Given the description of an element on the screen output the (x, y) to click on. 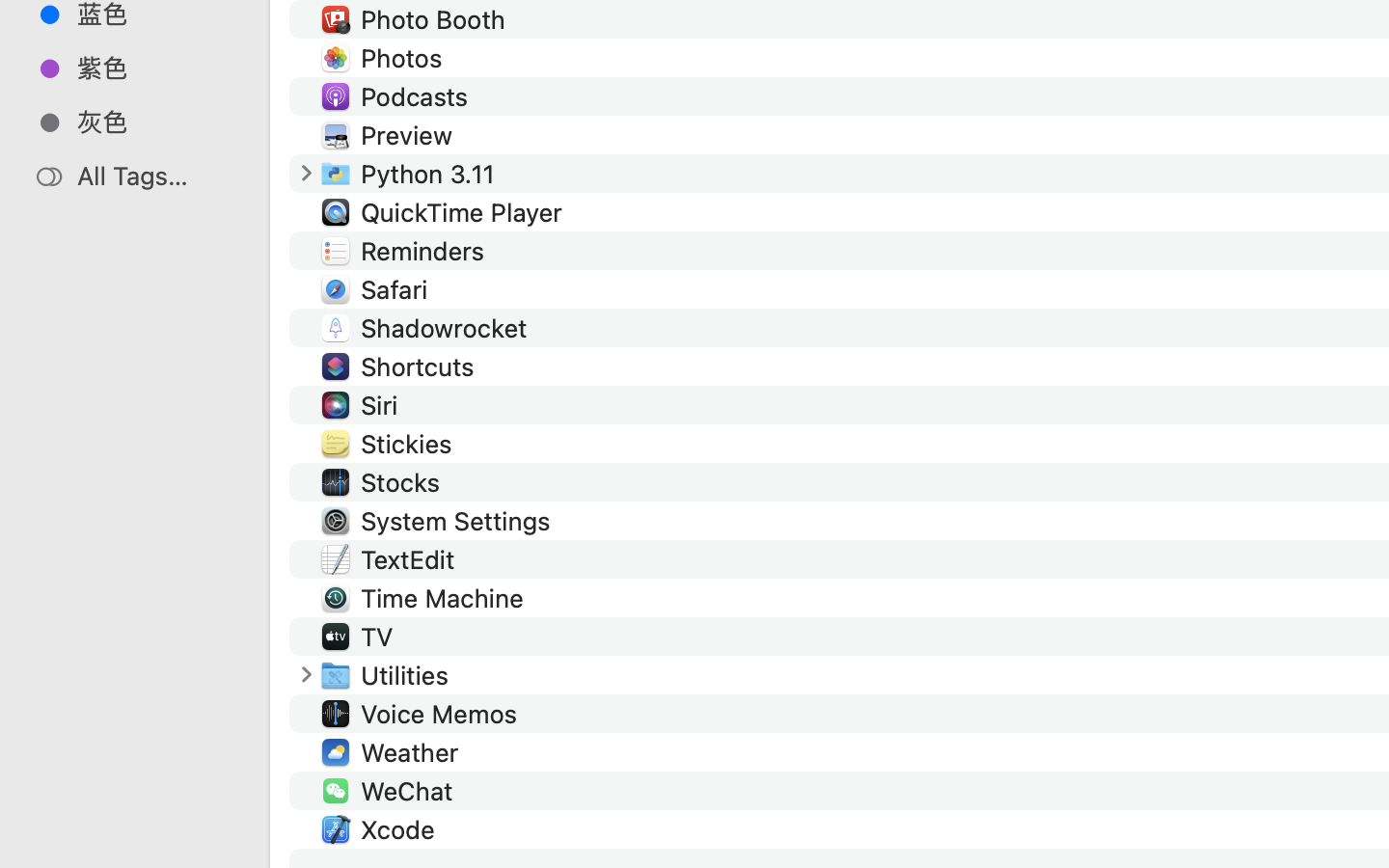
Shadowrocket Element type: AXTextField (448, 327)
All Tags… Element type: AXStaticText (155, 175)
0 Element type: AXDisclosureTriangle (305, 173)
System Settings Element type: AXTextField (459, 520)
Safari Element type: AXTextField (397, 288)
